Given the description of an element on the screen output the (x, y) to click on. 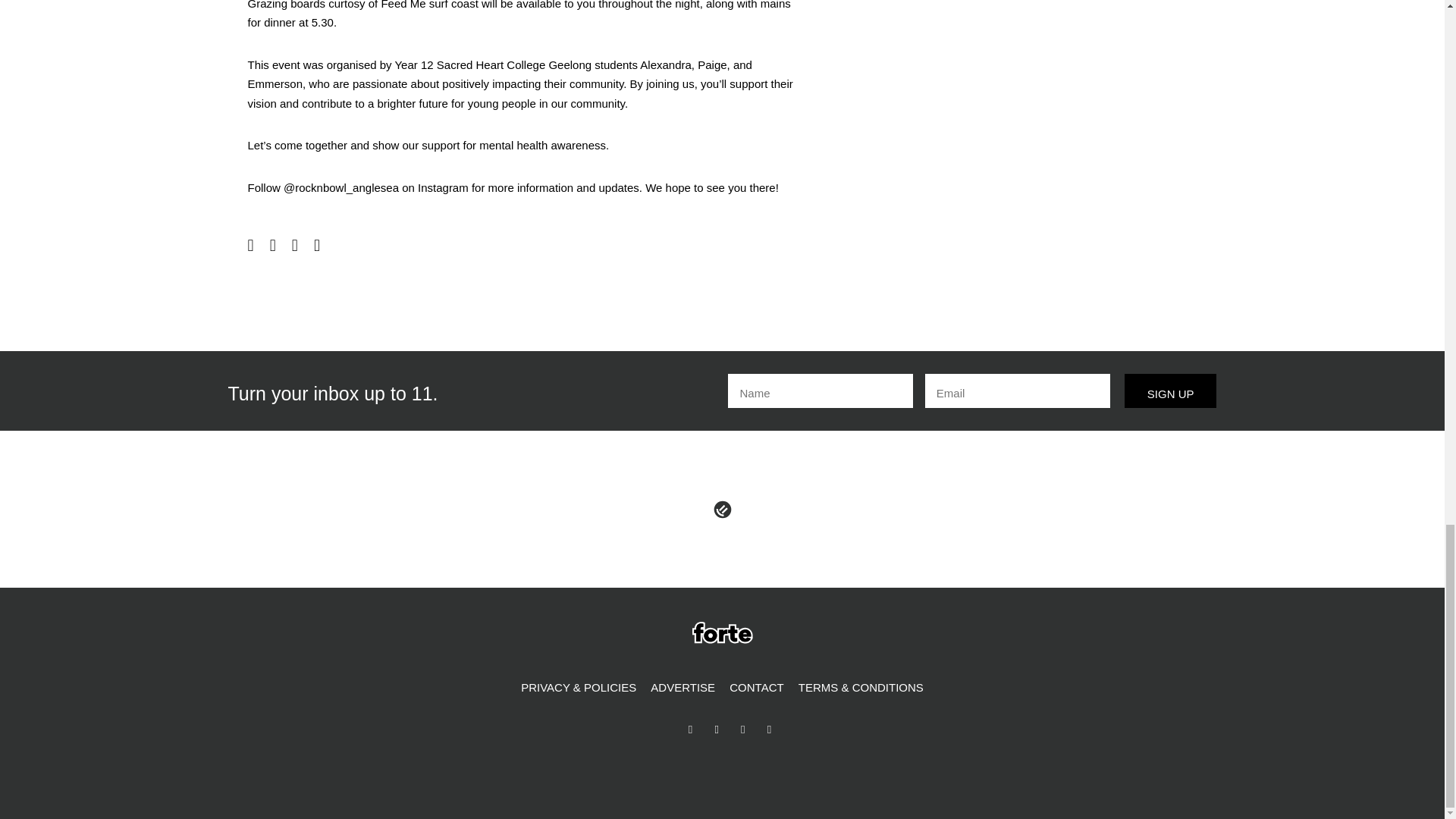
ADVERTISE (682, 687)
SIGN UP (1170, 390)
CONTACT (756, 687)
